Given the description of an element on the screen output the (x, y) to click on. 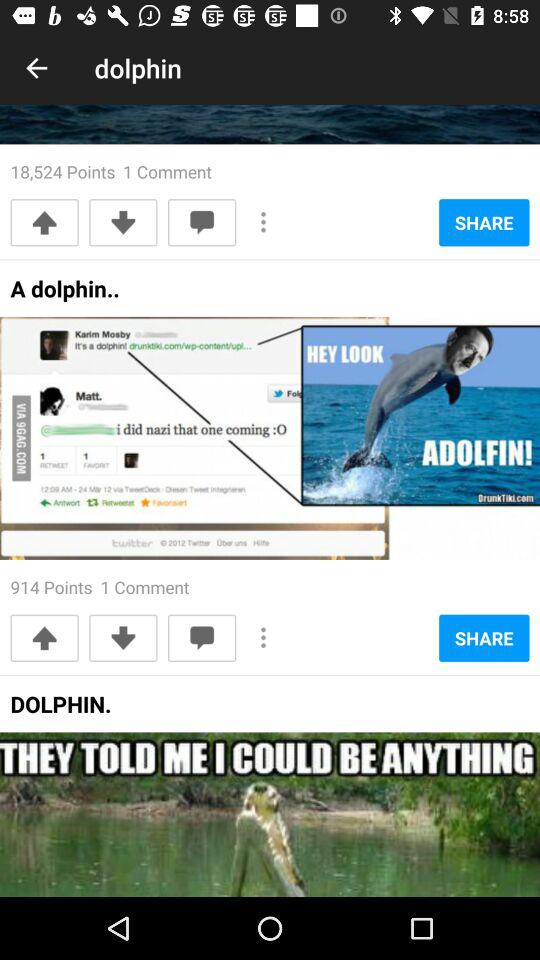
open the dolphin. at the bottom left corner (60, 710)
